Given the description of an element on the screen output the (x, y) to click on. 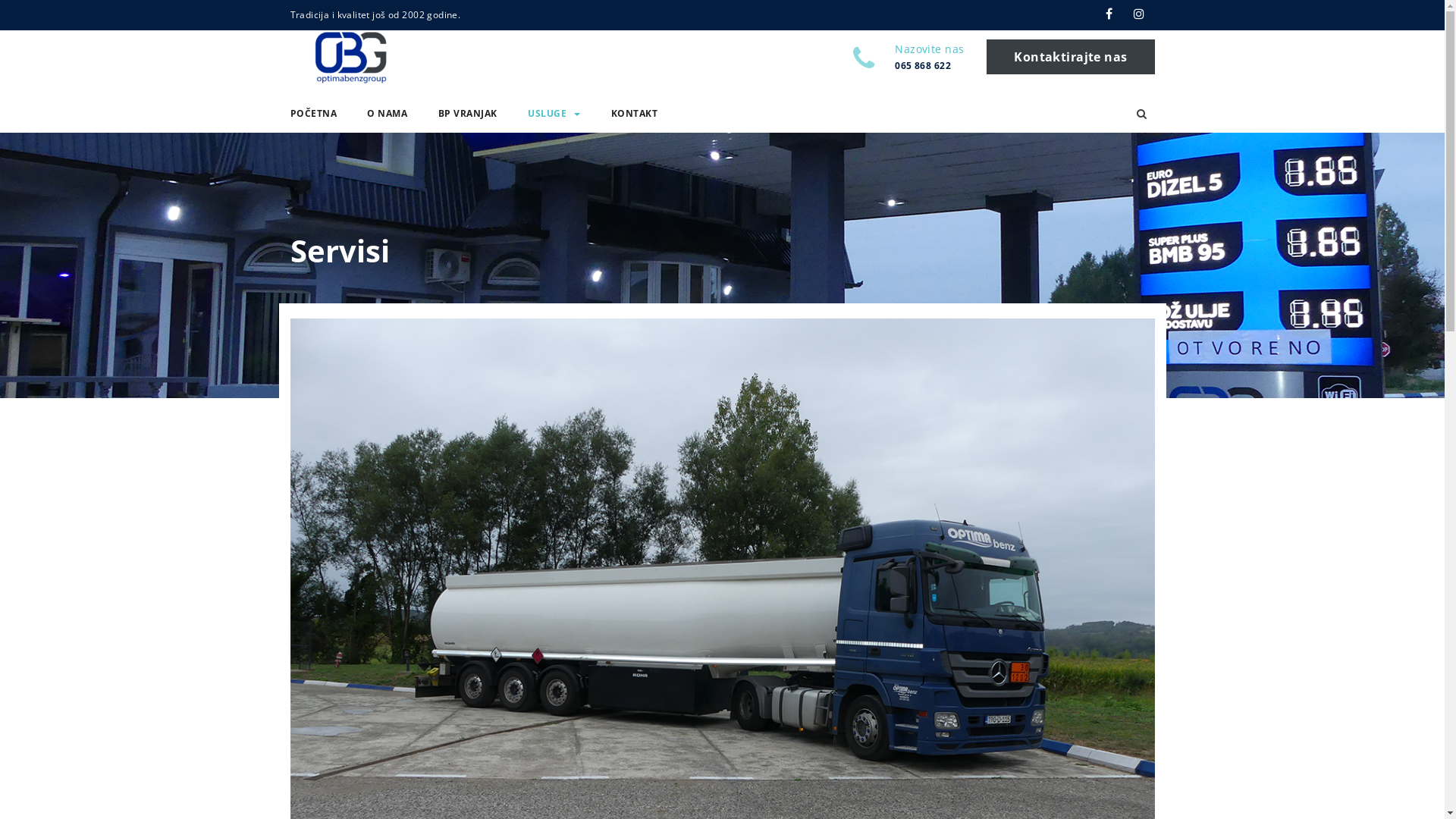
O NAMA Element type: text (386, 113)
USLUGE Element type: text (553, 113)
KONTAKT Element type: text (634, 113)
BP VRANJAK Element type: text (467, 113)
Kontaktirajte nas Element type: text (1070, 56)
